Given the description of an element on the screen output the (x, y) to click on. 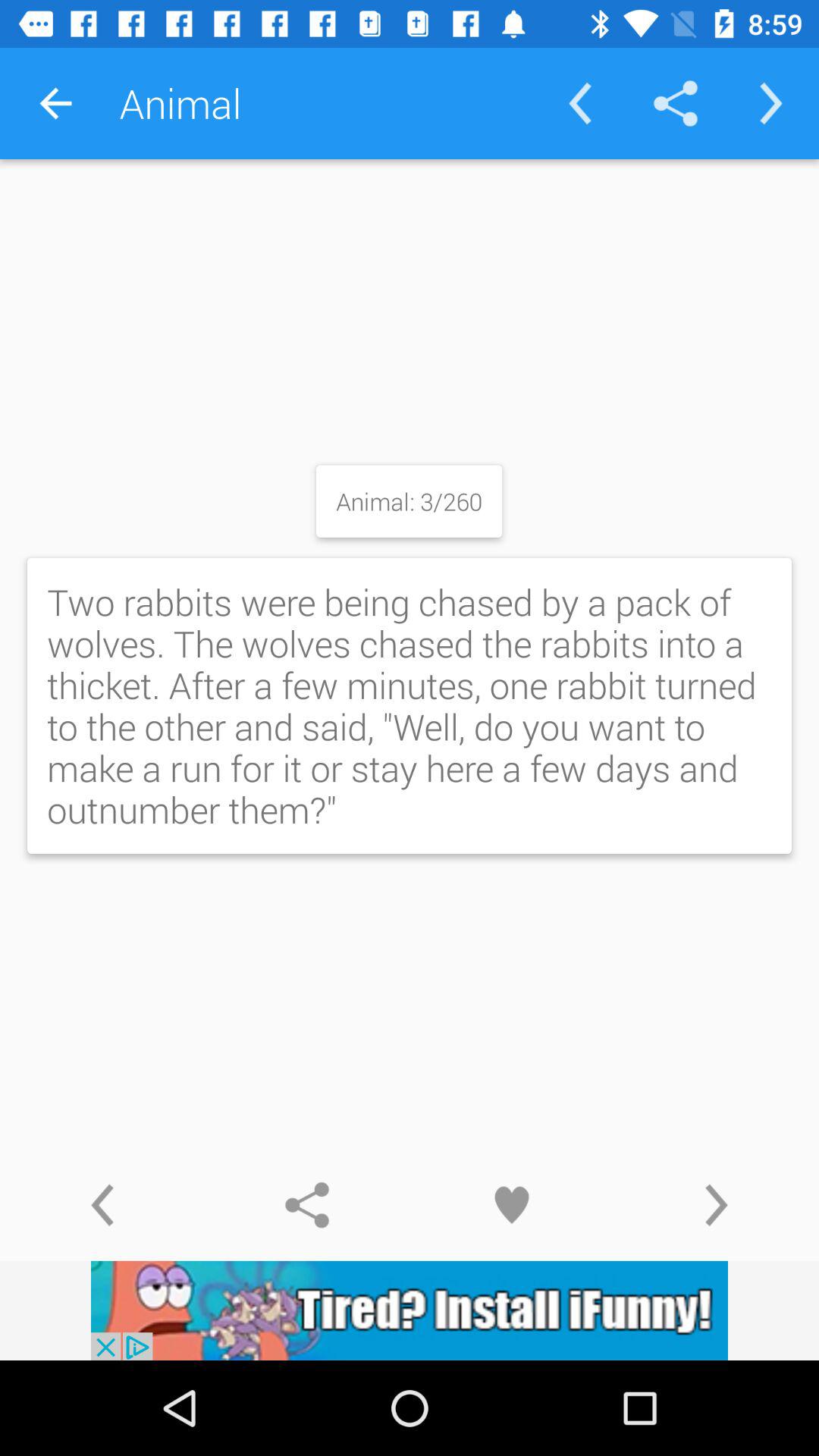
next joke (716, 1205)
